Given the description of an element on the screen output the (x, y) to click on. 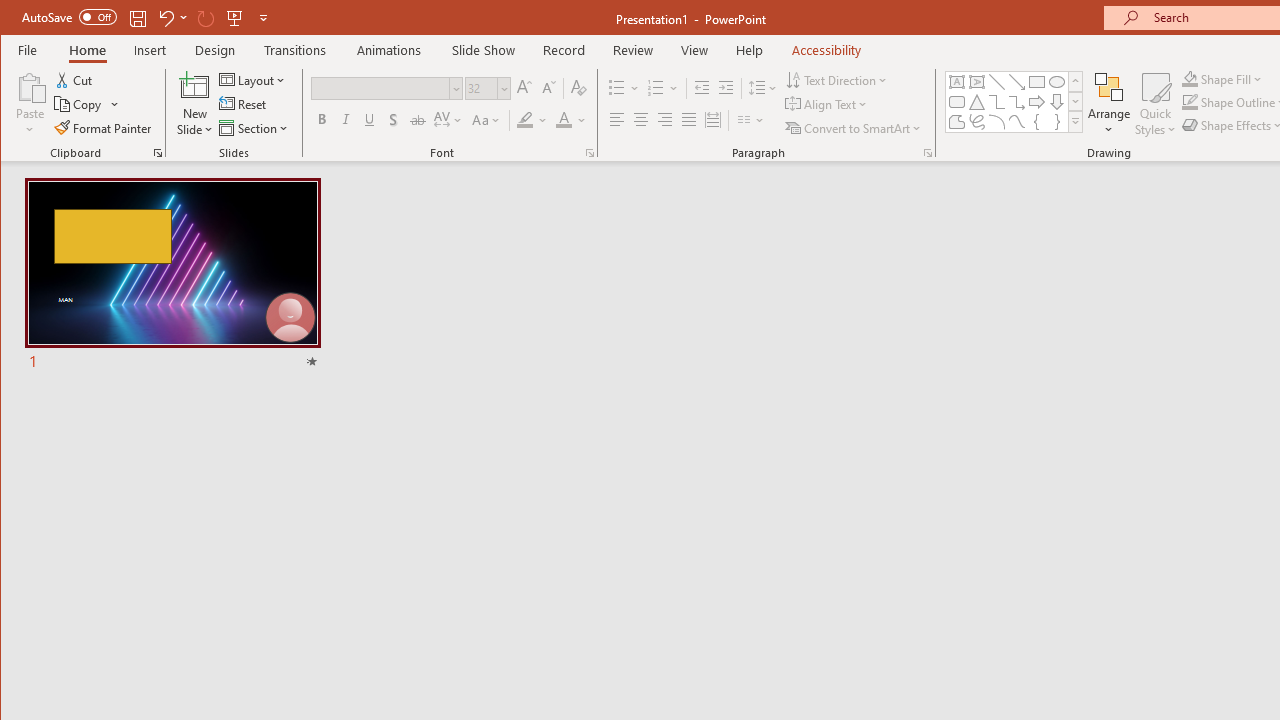
Right Brace (1057, 121)
Line (996, 82)
Rectangle: Rounded Corners (956, 102)
Text Box (956, 82)
Section (255, 127)
Align Right (664, 119)
Connector: Elbow (996, 102)
Format Painter (104, 127)
Shape Fill (1222, 78)
